Given the description of an element on the screen output the (x, y) to click on. 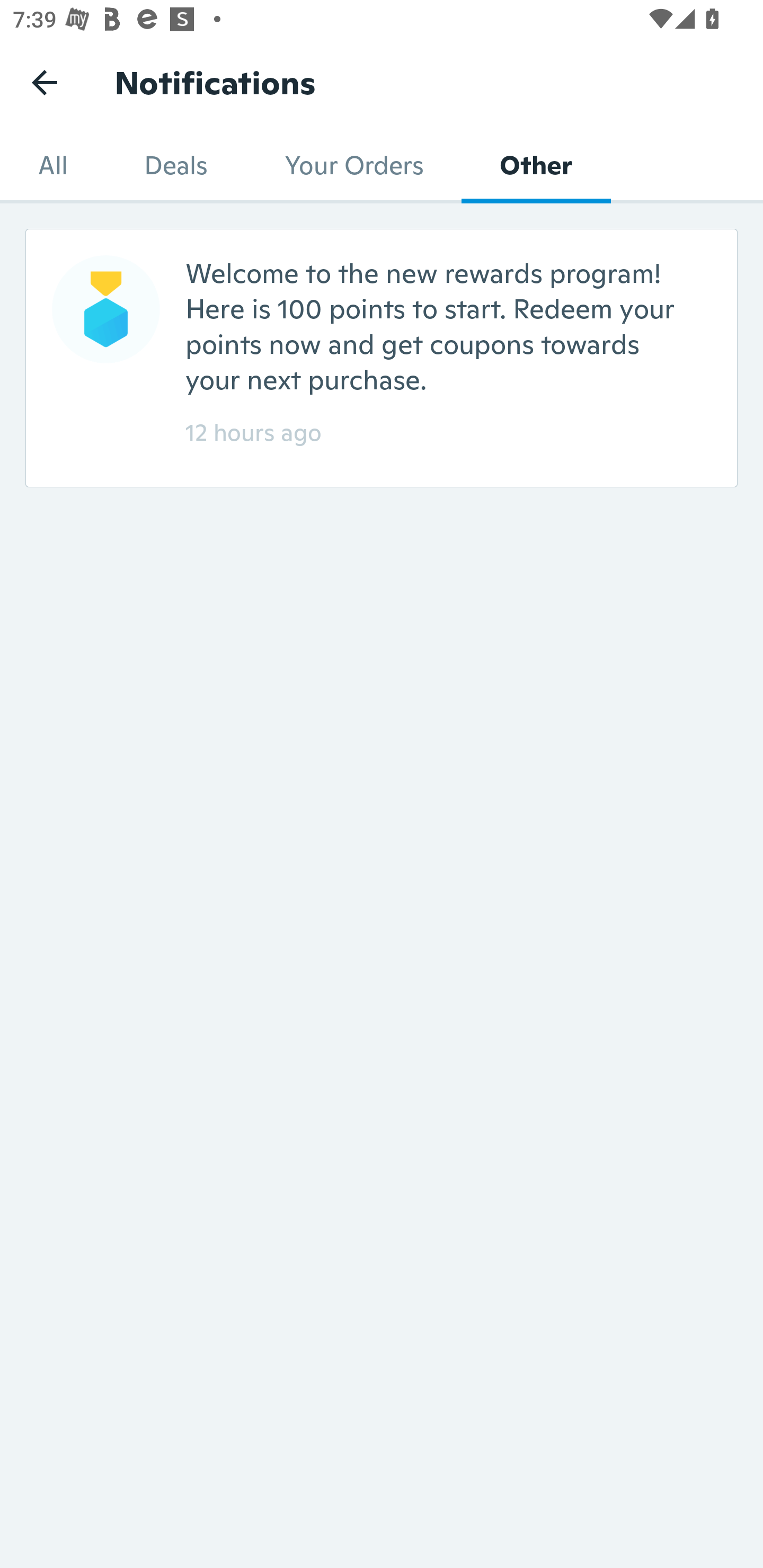
Navigate up (44, 82)
All (53, 165)
Deals (175, 165)
Your Orders (353, 165)
Other (536, 165)
